Given the description of an element on the screen output the (x, y) to click on. 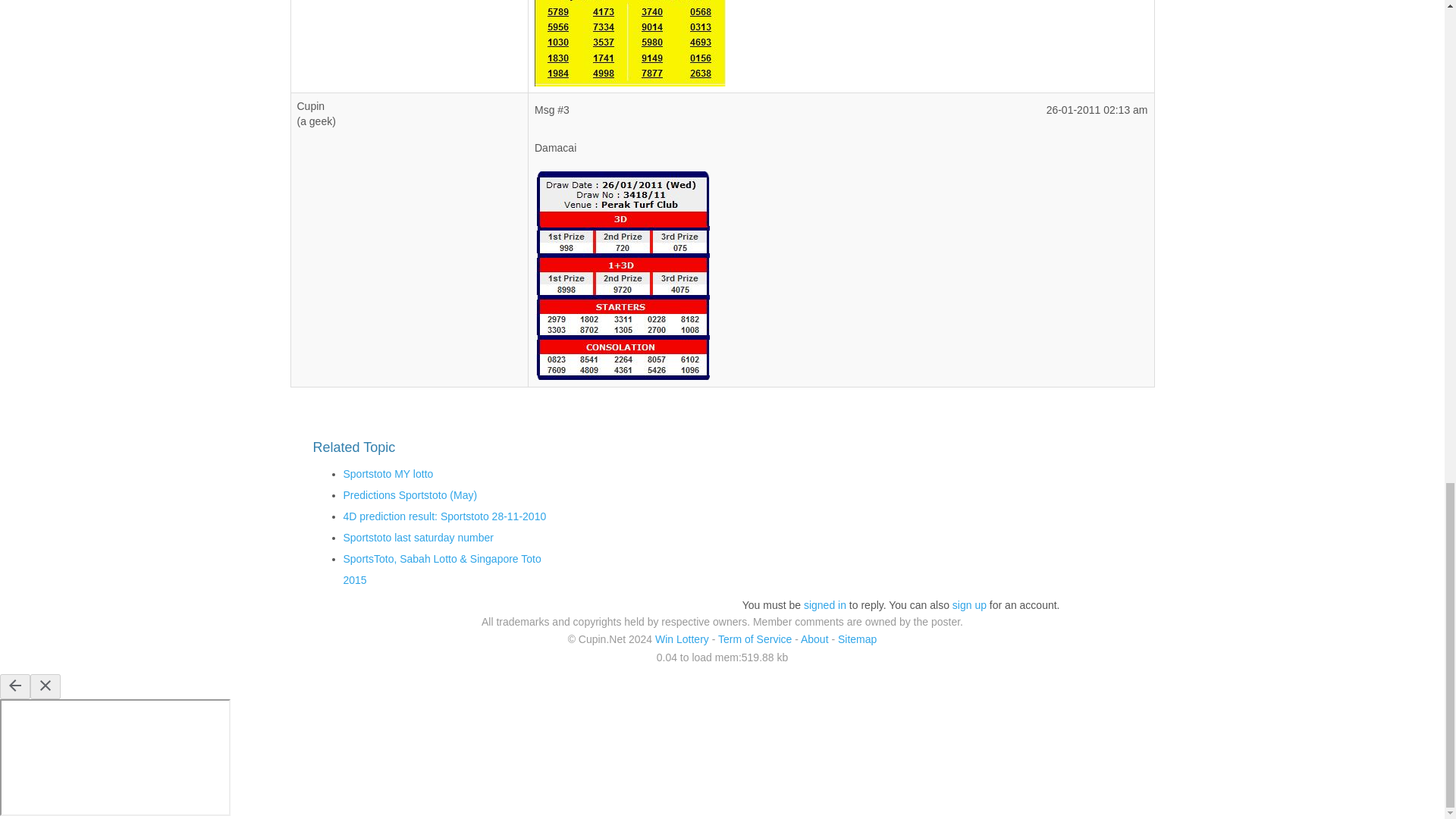
Win Lottery (682, 639)
Term of Service (754, 639)
Sportstoto MY lotto (387, 473)
signed in (824, 604)
4D prediction result: Sportstoto 28-11-2010 (444, 516)
sign up (969, 604)
Sitemap (857, 639)
About (814, 639)
Sportstoto last saturday number (417, 537)
